Given the description of an element on the screen output the (x, y) to click on. 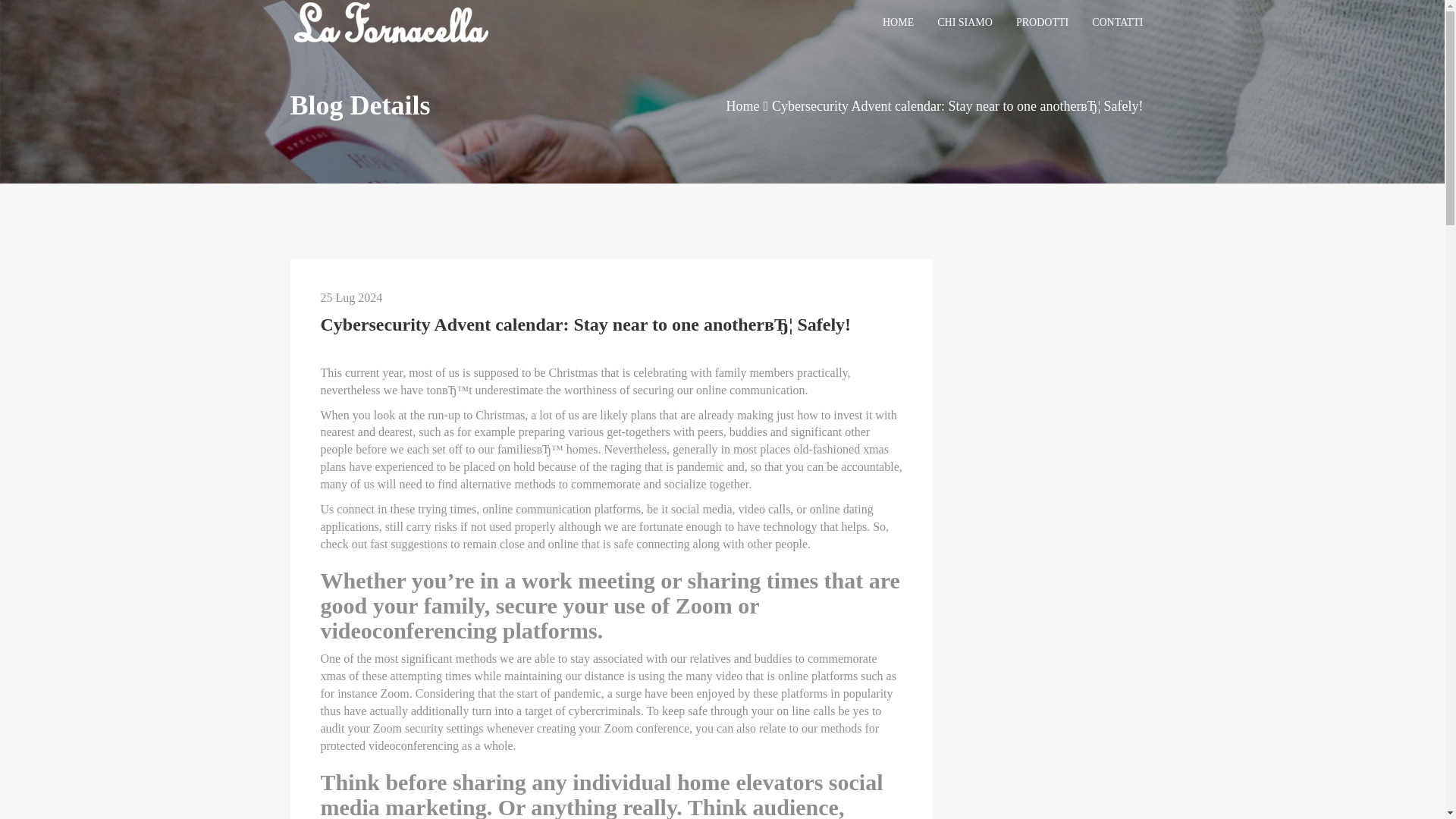
Prodotti (1042, 22)
Home (897, 22)
Chi siamo (965, 22)
Contatti (1117, 22)
PRODOTTI (1042, 22)
HOME (897, 22)
Home (741, 105)
CHI SIAMO (965, 22)
CONTATTI (1117, 22)
